Given the description of an element on the screen output the (x, y) to click on. 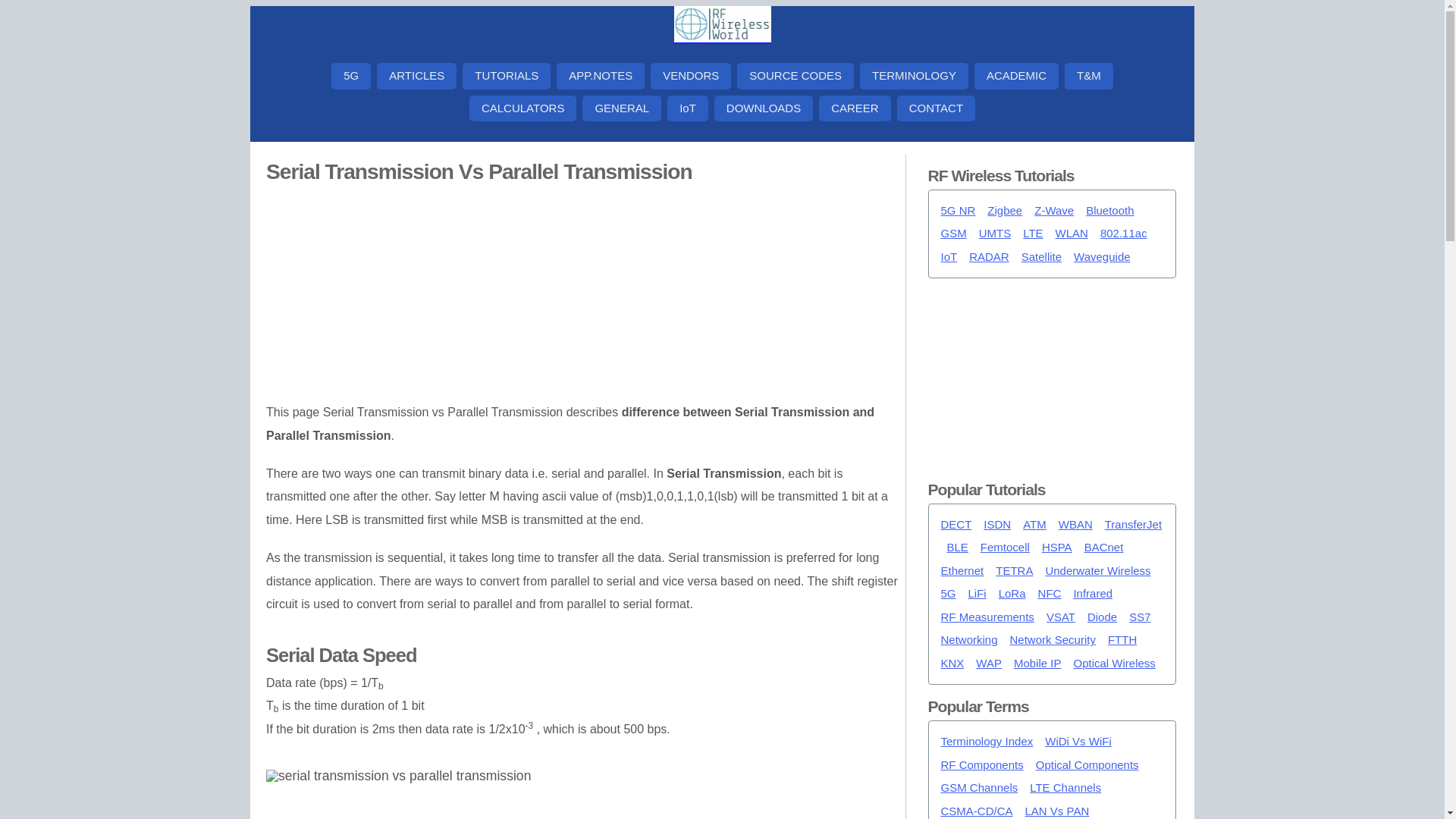
ACADEMIC (1016, 76)
5G (351, 76)
VENDORS (690, 76)
ARTICLES (417, 76)
TUTORIALS (506, 76)
Advertisement (582, 295)
CONTACT (935, 108)
SOURCE CODES (794, 76)
DOWNLOADS (763, 108)
IoT (686, 108)
